Given the description of an element on the screen output the (x, y) to click on. 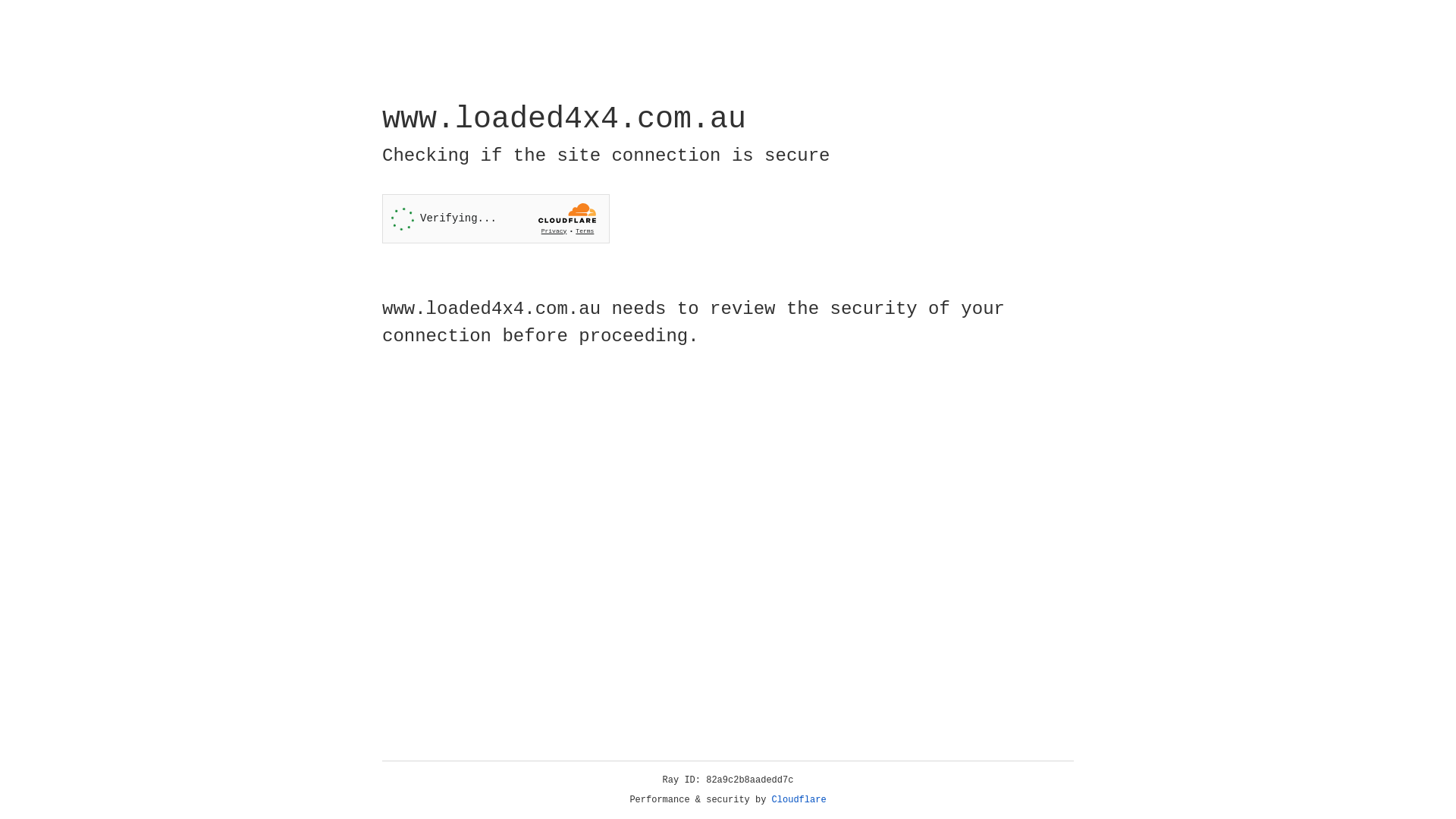
Widget containing a Cloudflare security challenge Element type: hover (495, 218)
Cloudflare Element type: text (798, 799)
